Given the description of an element on the screen output the (x, y) to click on. 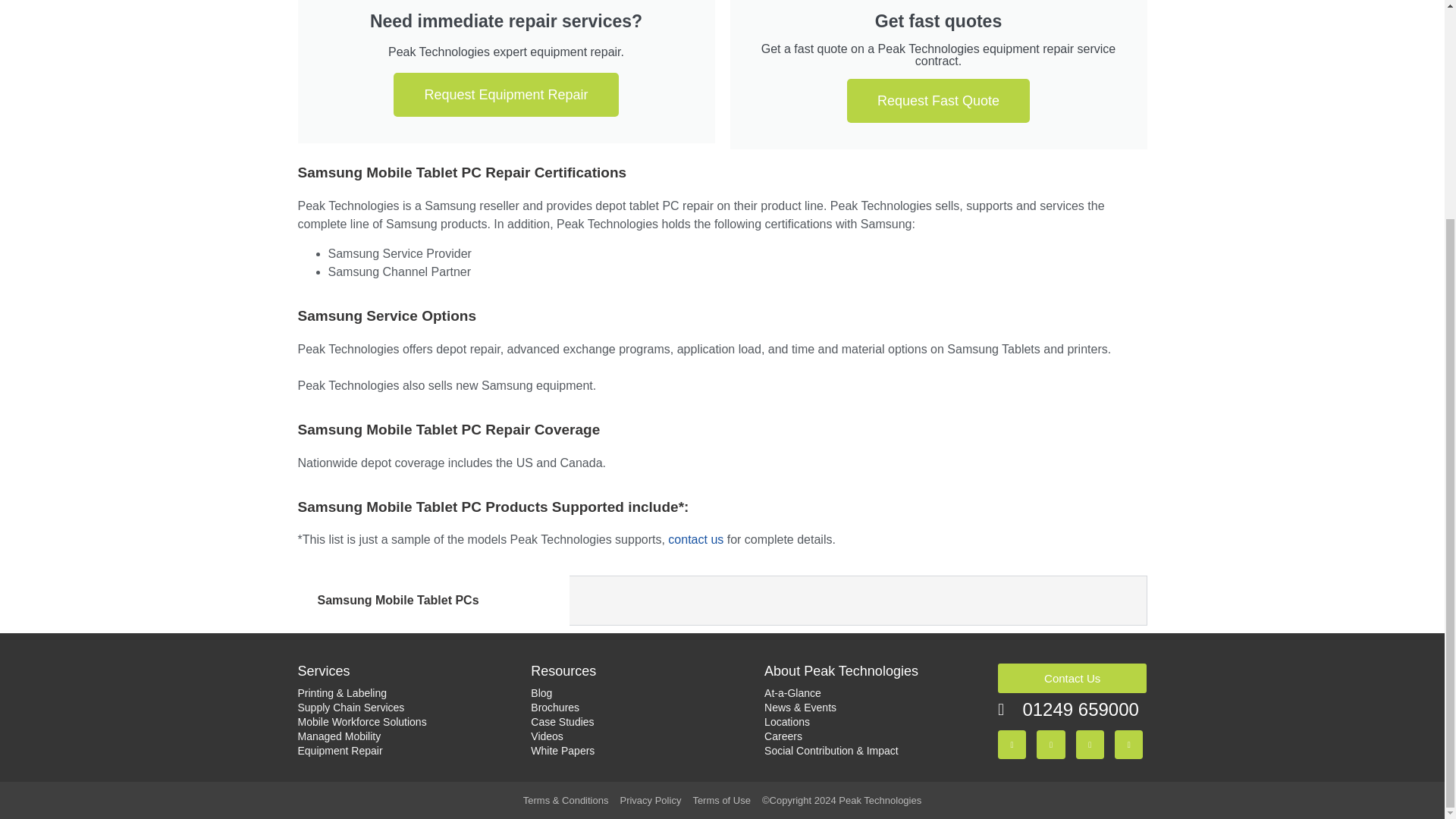
Contact Us (695, 539)
